Given the description of an element on the screen output the (x, y) to click on. 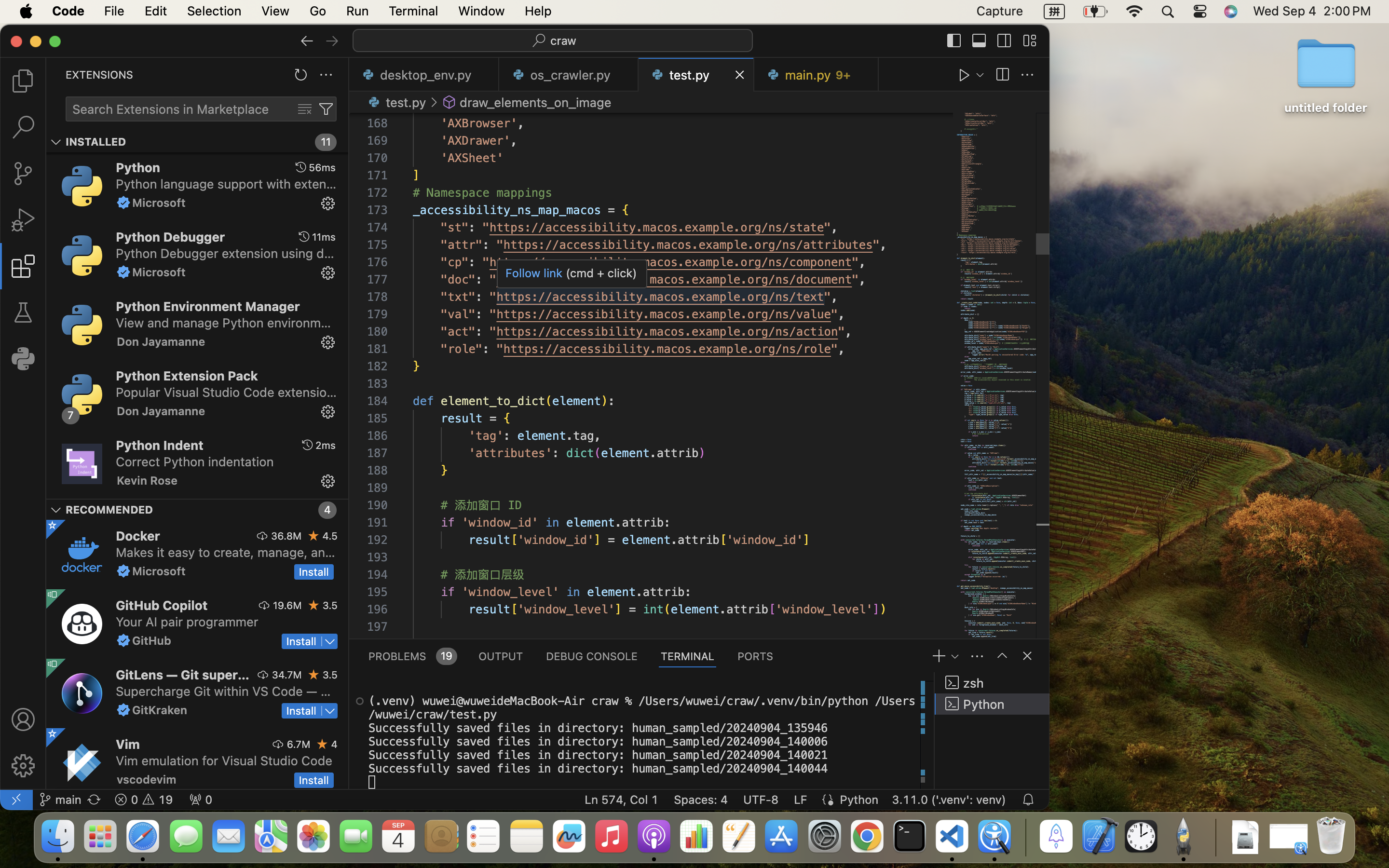
Your AI pair programmer Element type: AXStaticText (186, 621)
1 test.py   Element type: AXRadioButton (696, 74)
 Element type: AXButton (1001, 74)
 Element type: AXCheckBox (1003, 40)
INSTALLED Element type: AXStaticText (95, 141)
